Given the description of an element on the screen output the (x, y) to click on. 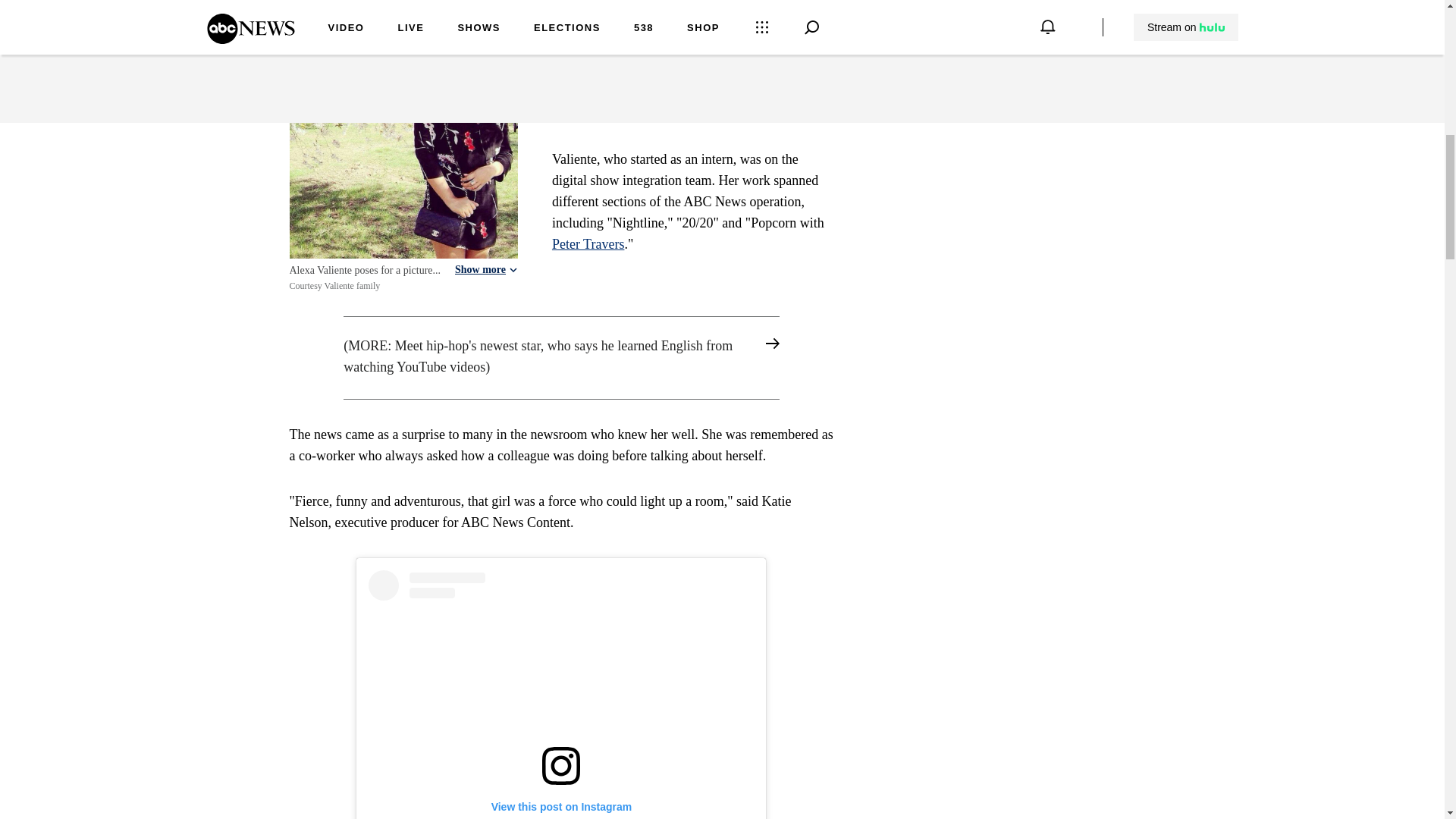
Peter Travers (587, 243)
View this post on Instagram (561, 694)
Show more (486, 269)
